Given the description of an element on the screen output the (x, y) to click on. 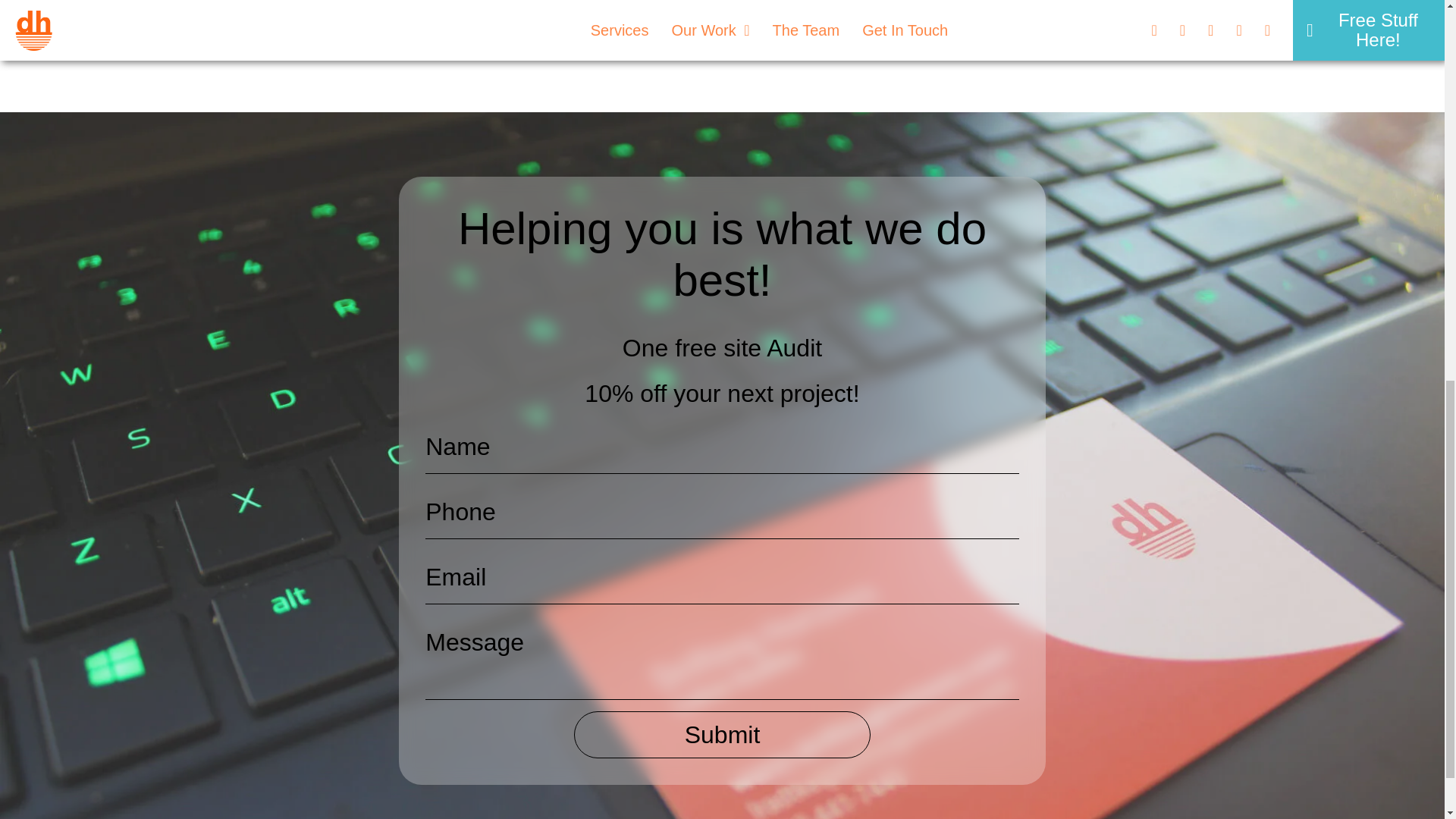
Submit (721, 734)
Visit Heroic Headshots! (721, 18)
Submit (721, 734)
